Given the description of an element on the screen output the (x, y) to click on. 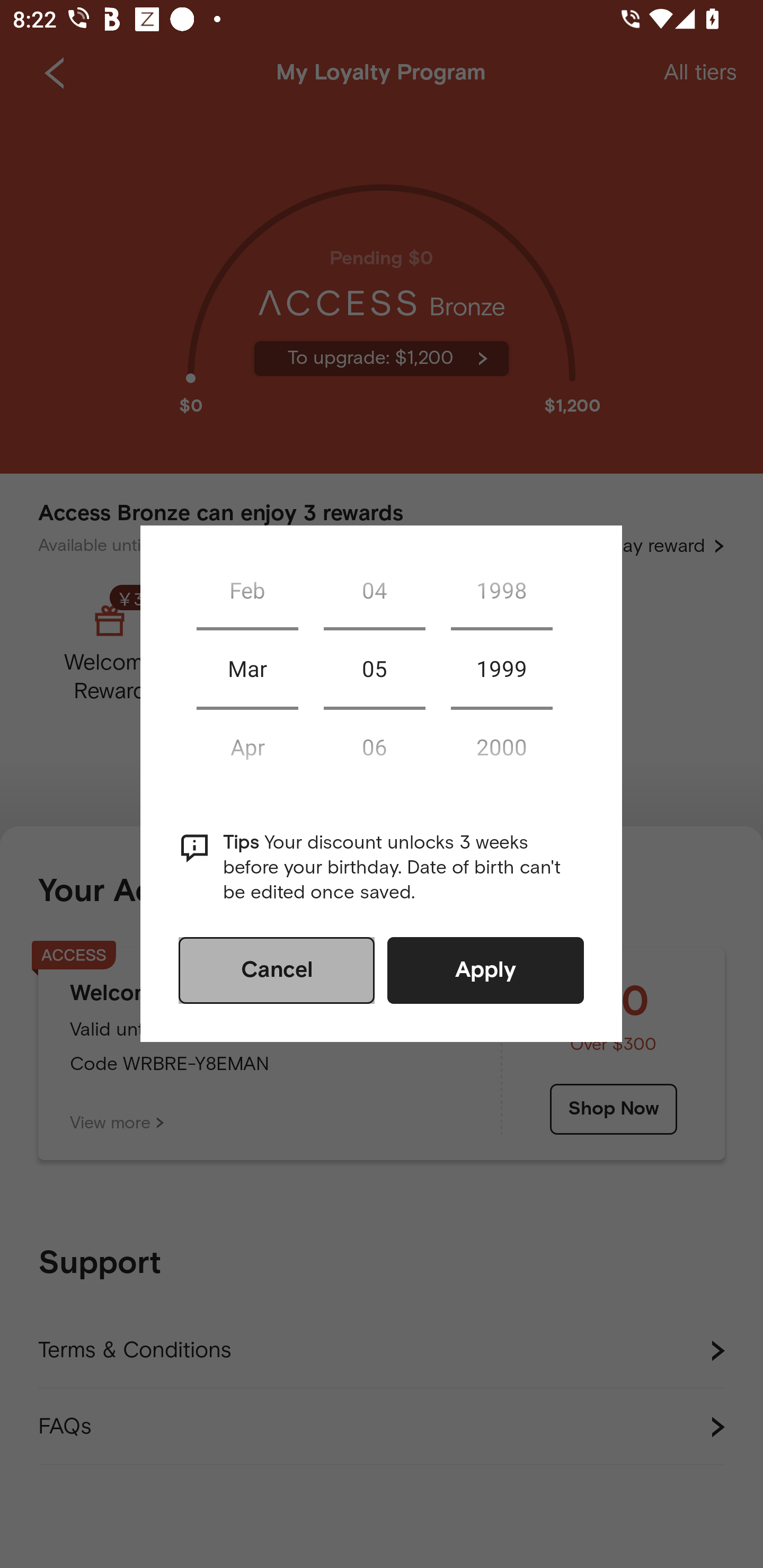
Feb (247, 590)
04 (374, 590)
1998 (501, 590)
Mar (247, 668)
05 (374, 668)
1999 (501, 668)
Apr (247, 746)
06 (374, 746)
2000 (501, 746)
Cancel (276, 970)
Apply (485, 970)
